Given the description of an element on the screen output the (x, y) to click on. 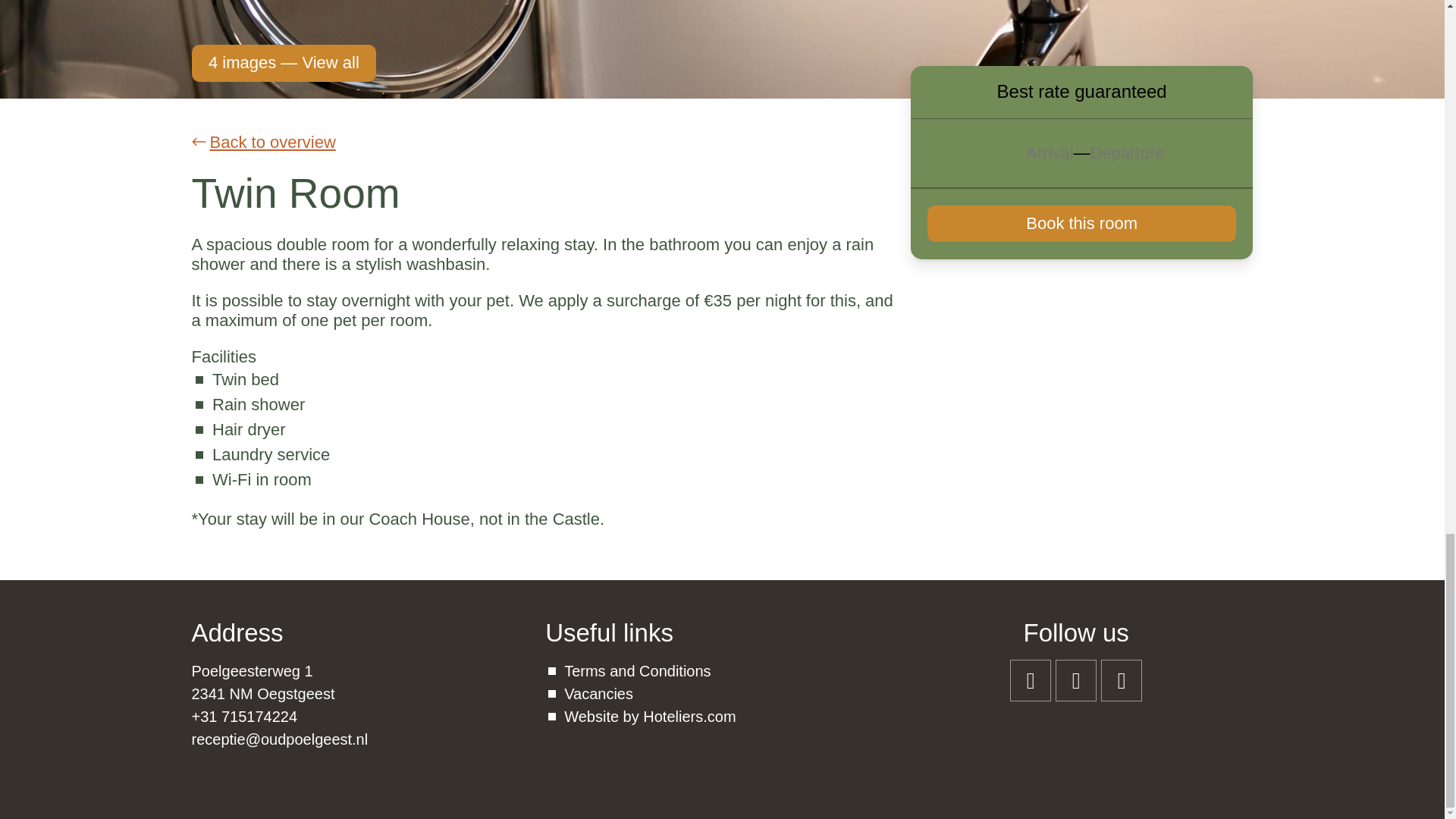
Book this room (1081, 223)
